Given the description of an element on the screen output the (x, y) to click on. 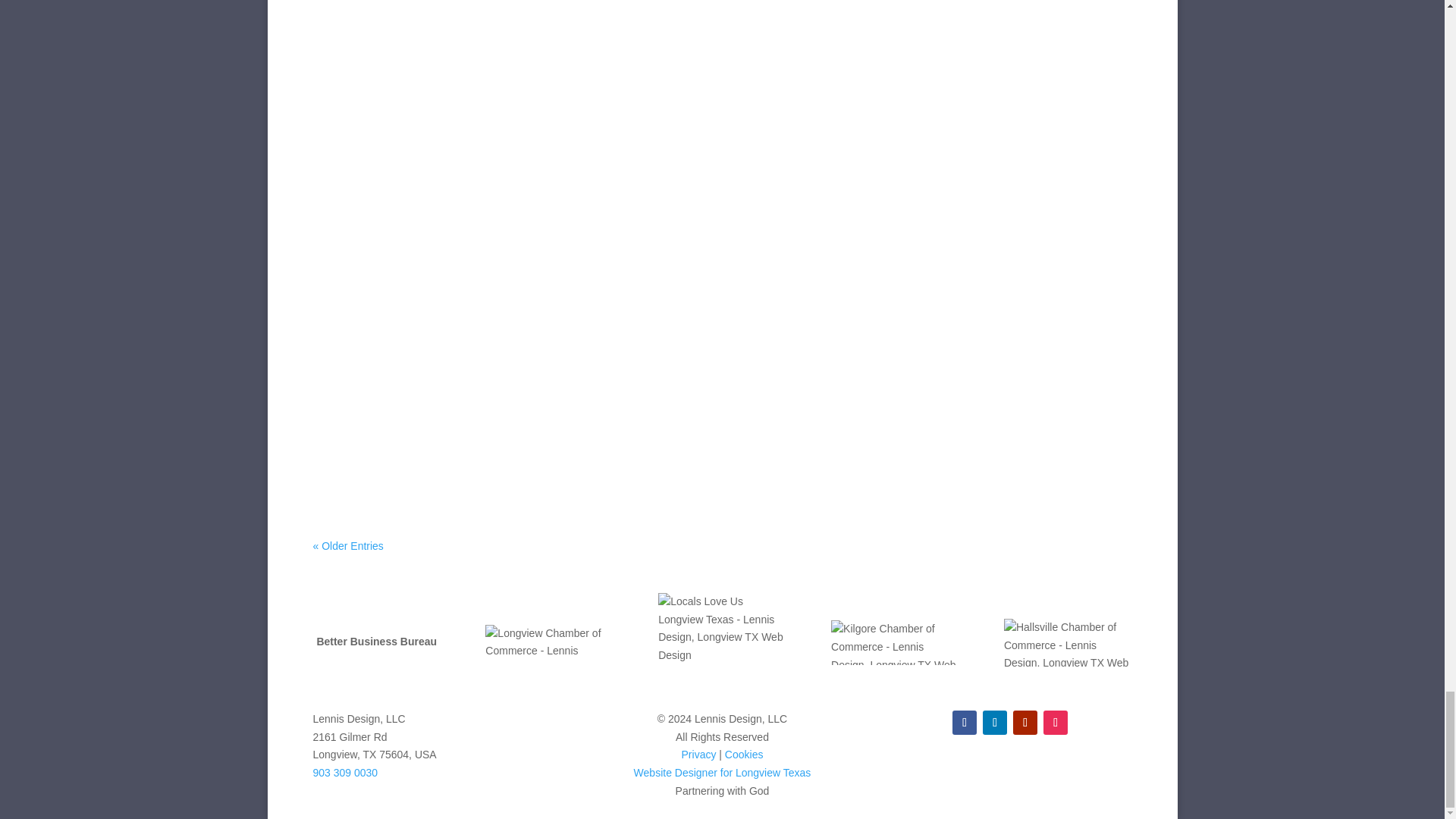
Follow on LinkedIn (994, 722)
Follow on Instagram (1055, 722)
Follow on Facebook (964, 722)
Follow on Youtube (1024, 722)
